Given the description of an element on the screen output the (x, y) to click on. 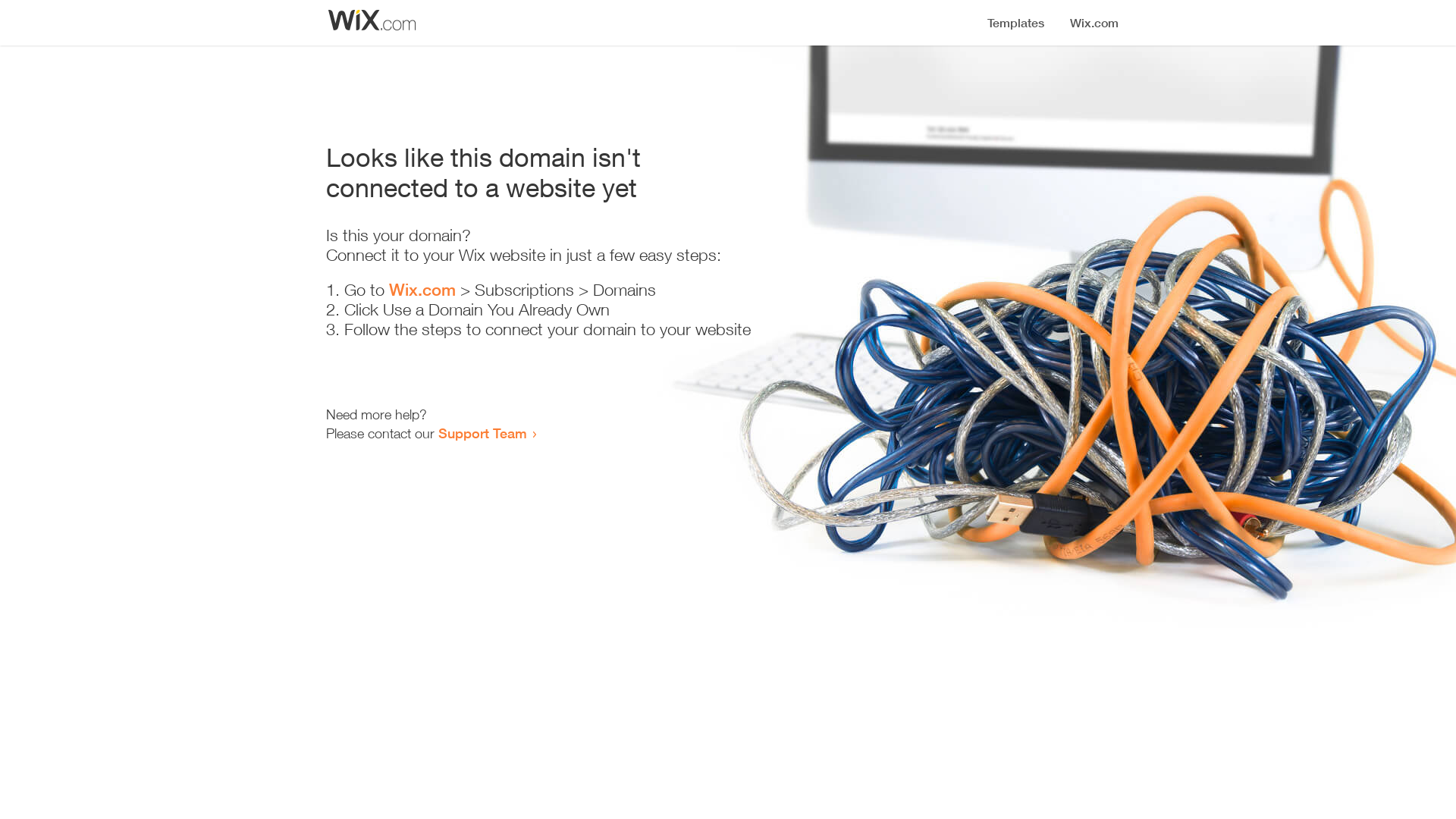
Wix.com Element type: text (422, 289)
Support Team Element type: text (482, 432)
